Given the description of an element on the screen output the (x, y) to click on. 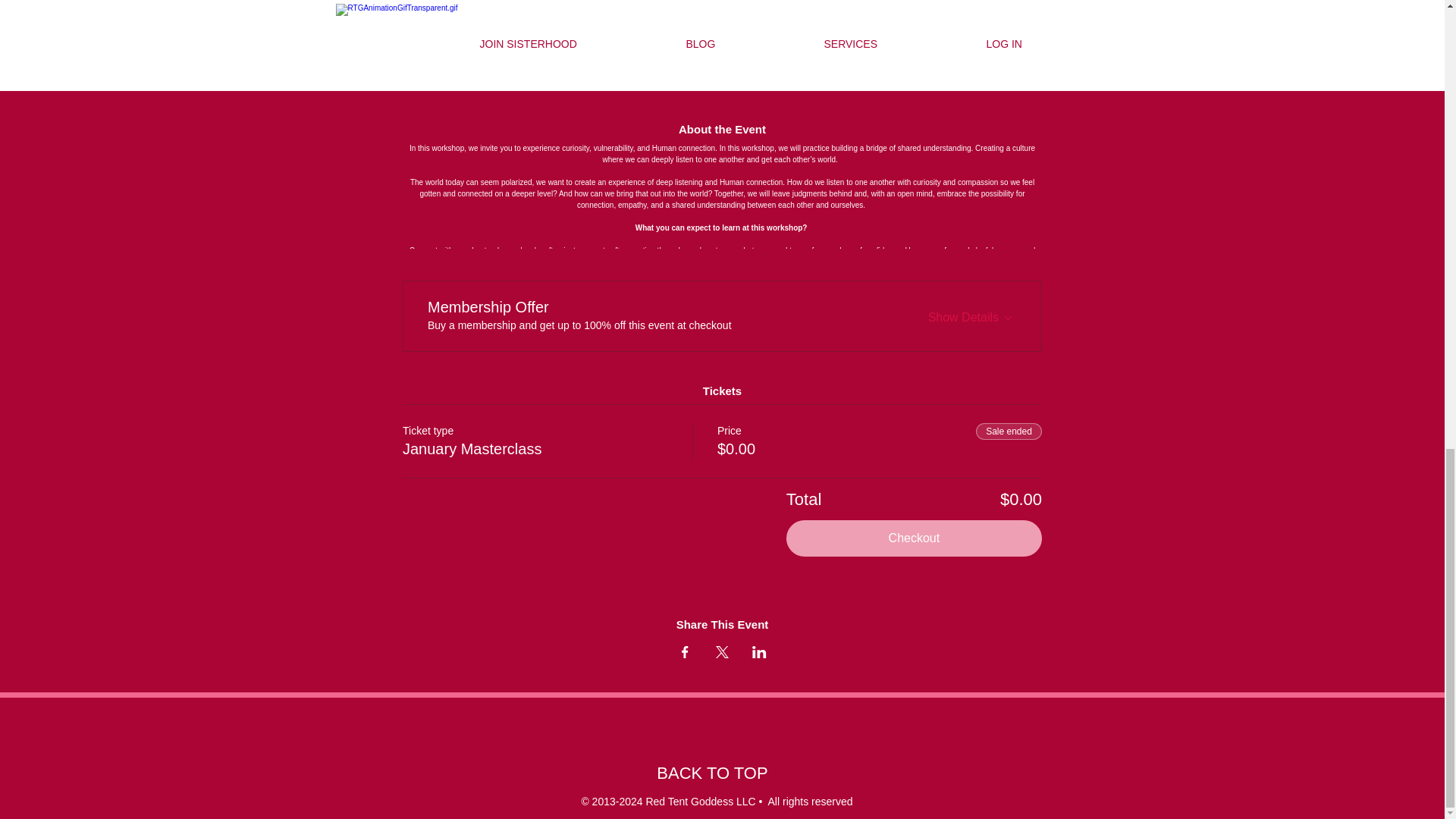
Show Details (972, 313)
Checkout (914, 538)
BACK TO TOP (711, 772)
